Given the description of an element on the screen output the (x, y) to click on. 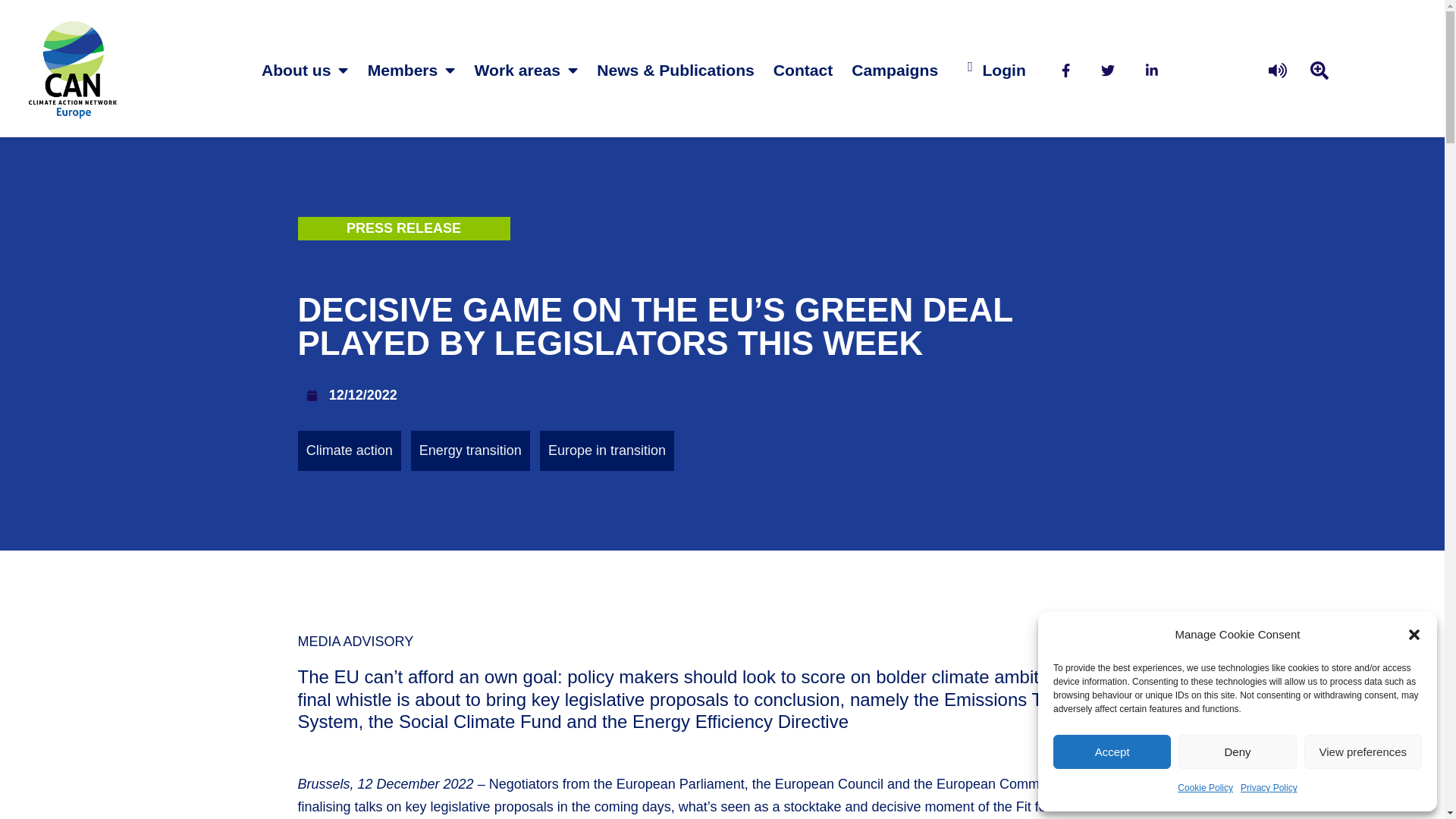
Campaigns (895, 69)
View preferences (1363, 751)
Login (1002, 69)
Contact (803, 69)
Cookie Policy (1205, 788)
Members (411, 69)
Accept (1111, 751)
Work areas (526, 69)
Deny (1236, 751)
Privacy Policy (1268, 788)
